Given the description of an element on the screen output the (x, y) to click on. 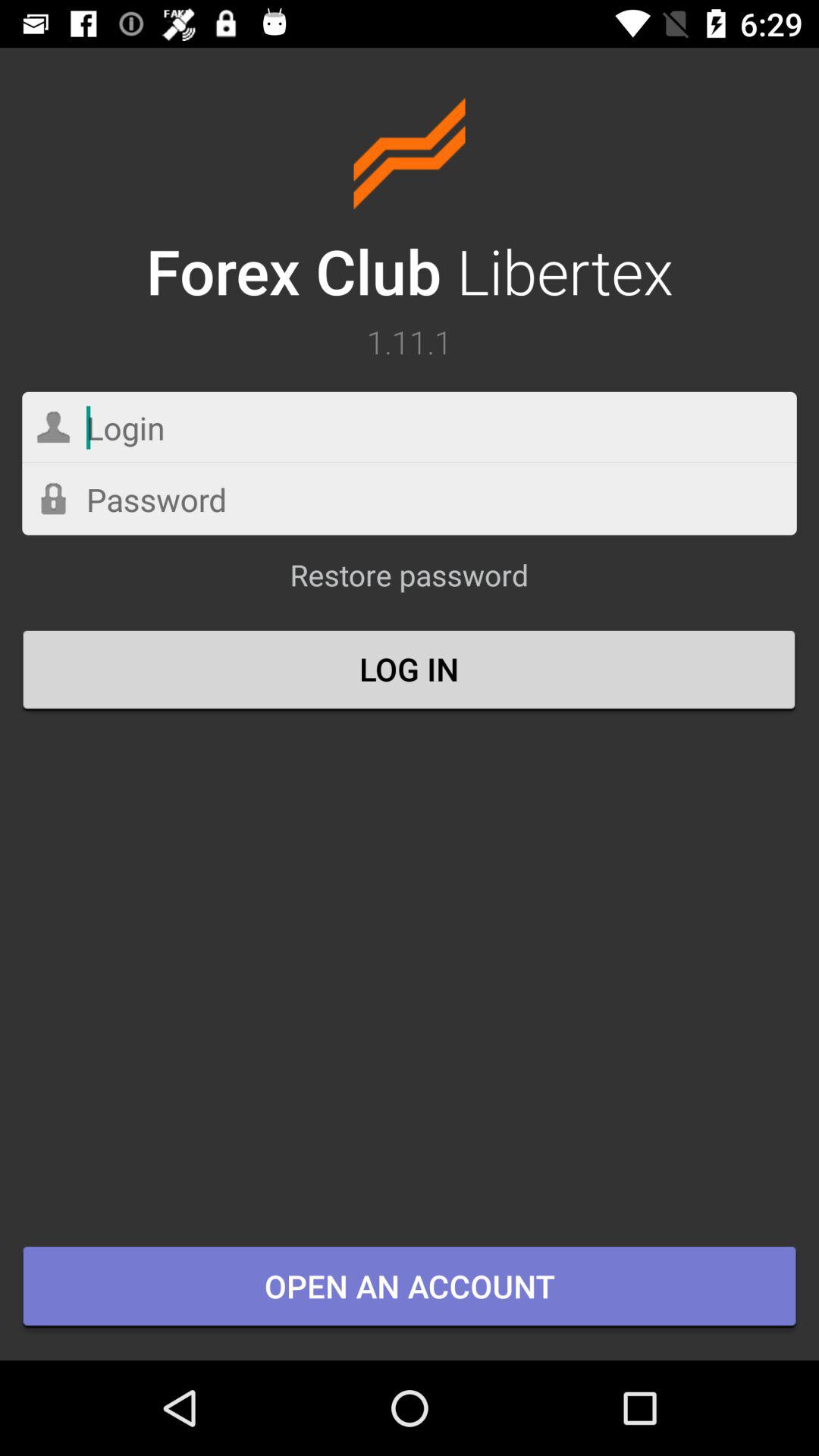
enter password (409, 499)
